Given the description of an element on the screen output the (x, y) to click on. 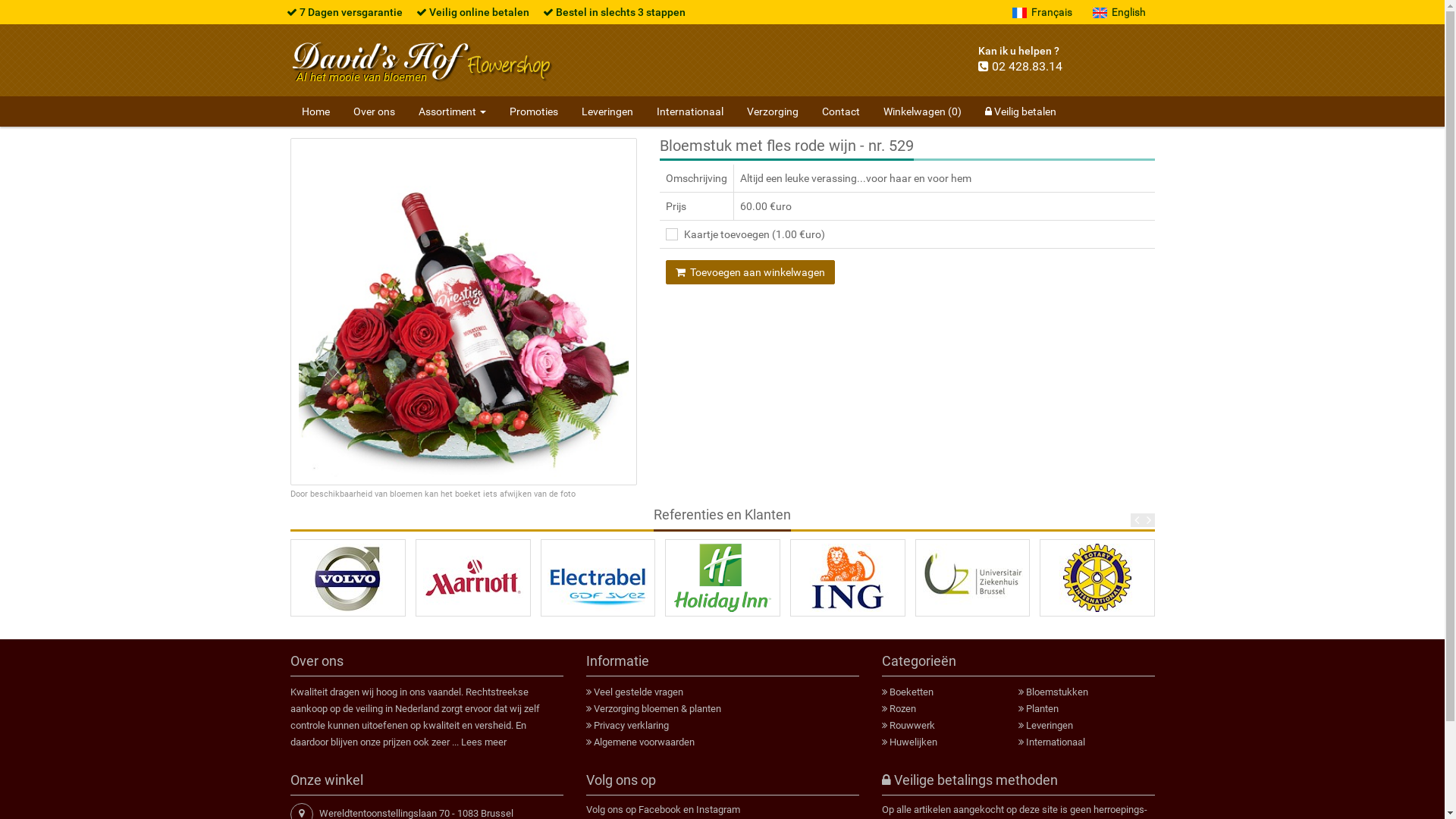
Privacy verklaring Element type: text (630, 725)
Veilig betalen Element type: text (1020, 111)
Leveringen Element type: text (1048, 725)
Contact Element type: text (839, 111)
Rozen Element type: text (901, 708)
  English Element type: text (1118, 12)
Rouwwerk Element type: text (911, 725)
Boeketten Element type: text (910, 690)
Leveringen Element type: text (607, 111)
Verzorging bloemen & planten Element type: text (656, 708)
Huwelijken Element type: text (912, 741)
Home Element type: text (314, 111)
Internationaal Element type: text (689, 111)
Bloemstukken Element type: text (1056, 690)
Algemene voorwaarden Element type: text (643, 741)
Assortiment Element type: text (451, 111)
Promoties Element type: text (532, 111)
Lees meer Element type: text (483, 741)
  Toevoegen aan winkelwagen Element type: text (749, 272)
Planten Element type: text (1041, 708)
Veel gestelde vragen Element type: text (637, 690)
Winkelwagen (0) Element type: text (922, 111)
Internationaal Element type: text (1054, 741)
Verzorging Element type: text (772, 111)
Over ons Element type: text (373, 111)
